Given the description of an element on the screen output the (x, y) to click on. 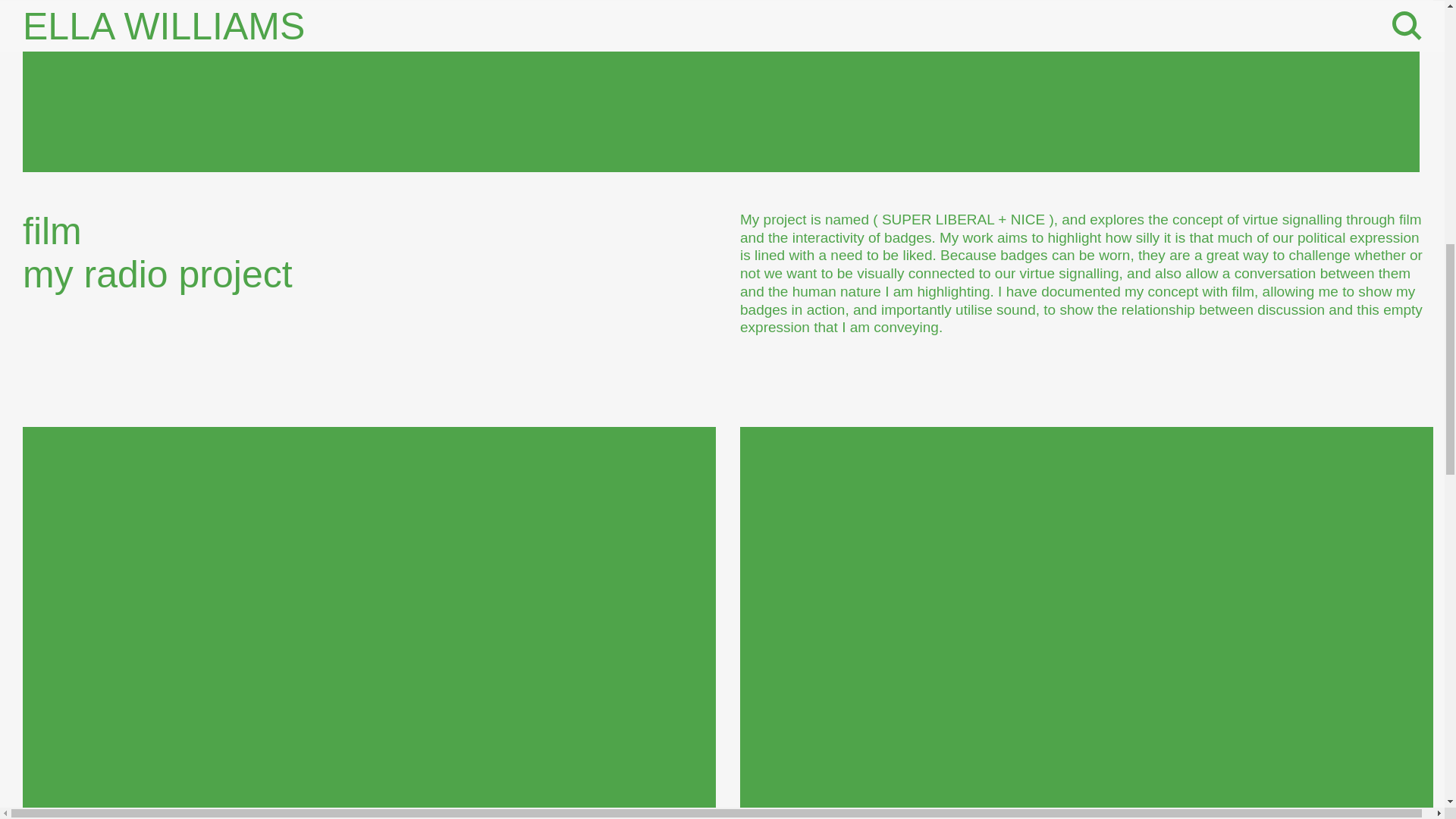
my radio project (172, 274)
film (67, 230)
